Given the description of an element on the screen output the (x, y) to click on. 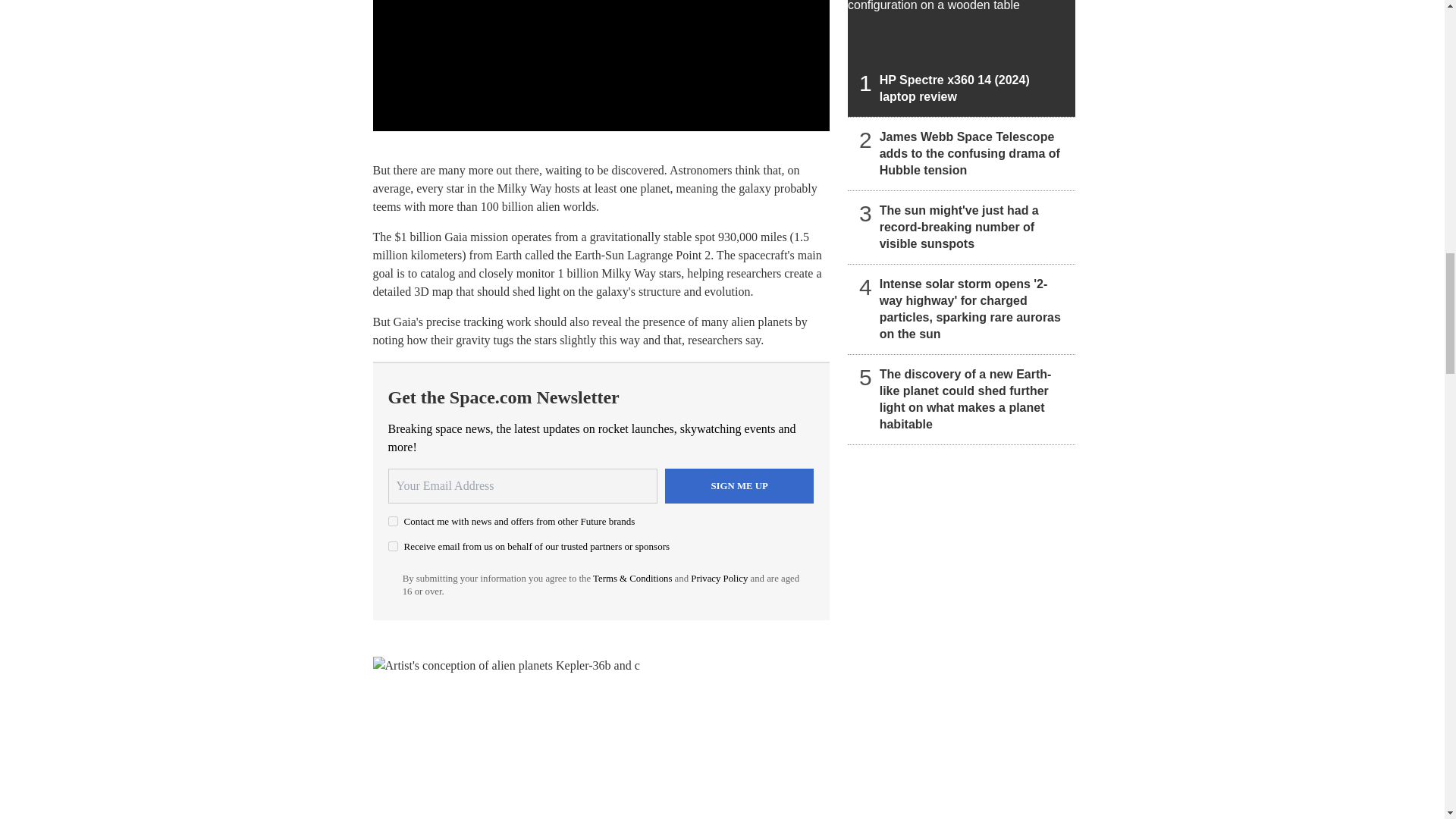
on (392, 521)
on (392, 546)
Sign me up (739, 485)
